Given the description of an element on the screen output the (x, y) to click on. 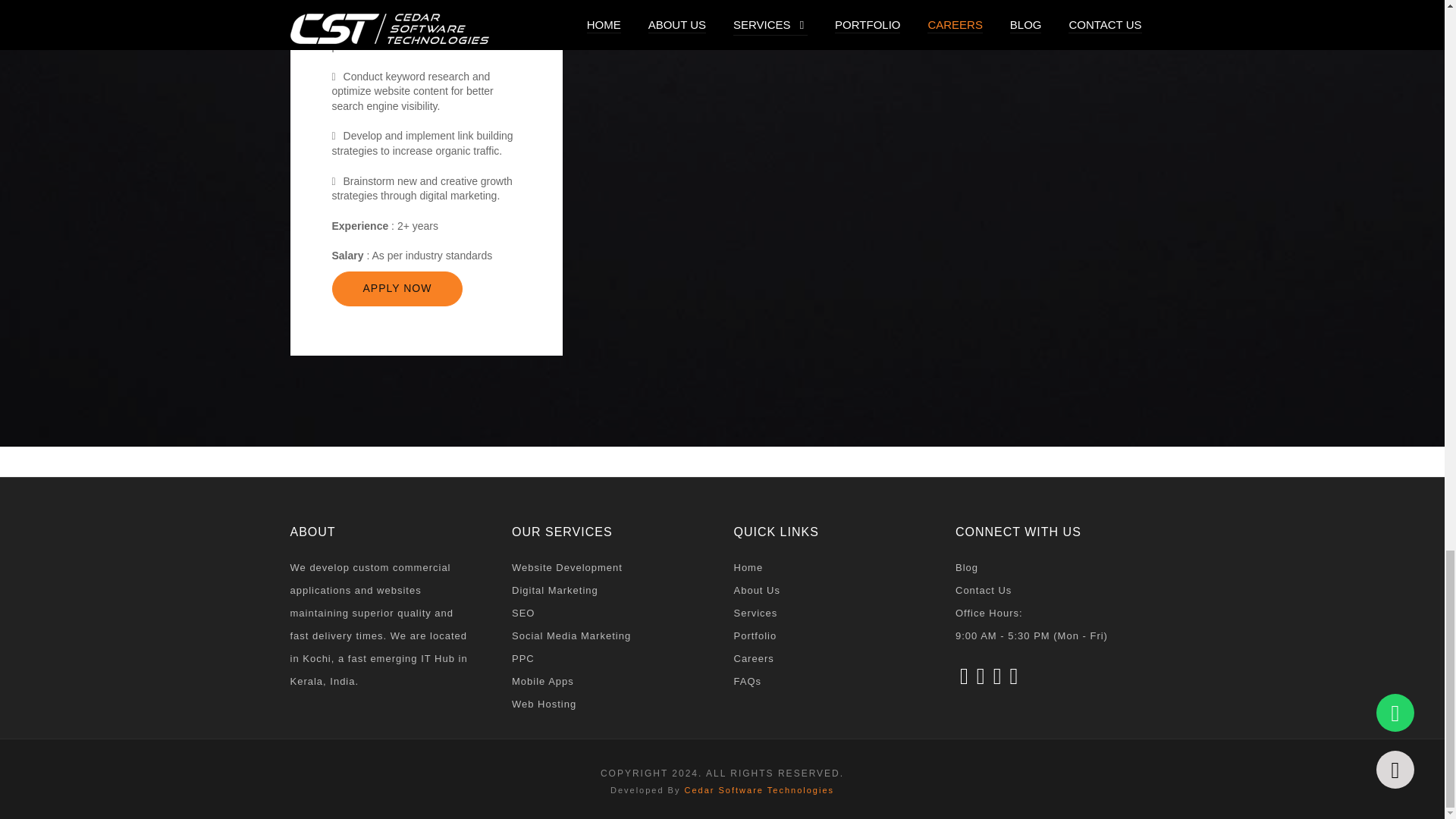
Portfolio (833, 635)
Mobile Apps (611, 681)
SEO (611, 612)
Web Hosting (611, 703)
Website Development (611, 567)
Contact Us (1054, 590)
APPLY NOW (397, 288)
PPC (611, 658)
Blog (1054, 567)
Digital Marketing (611, 590)
Careers (833, 658)
FAQs (833, 681)
Home (833, 567)
Social Media Marketing (611, 635)
About Us (833, 590)
